Given the description of an element on the screen output the (x, y) to click on. 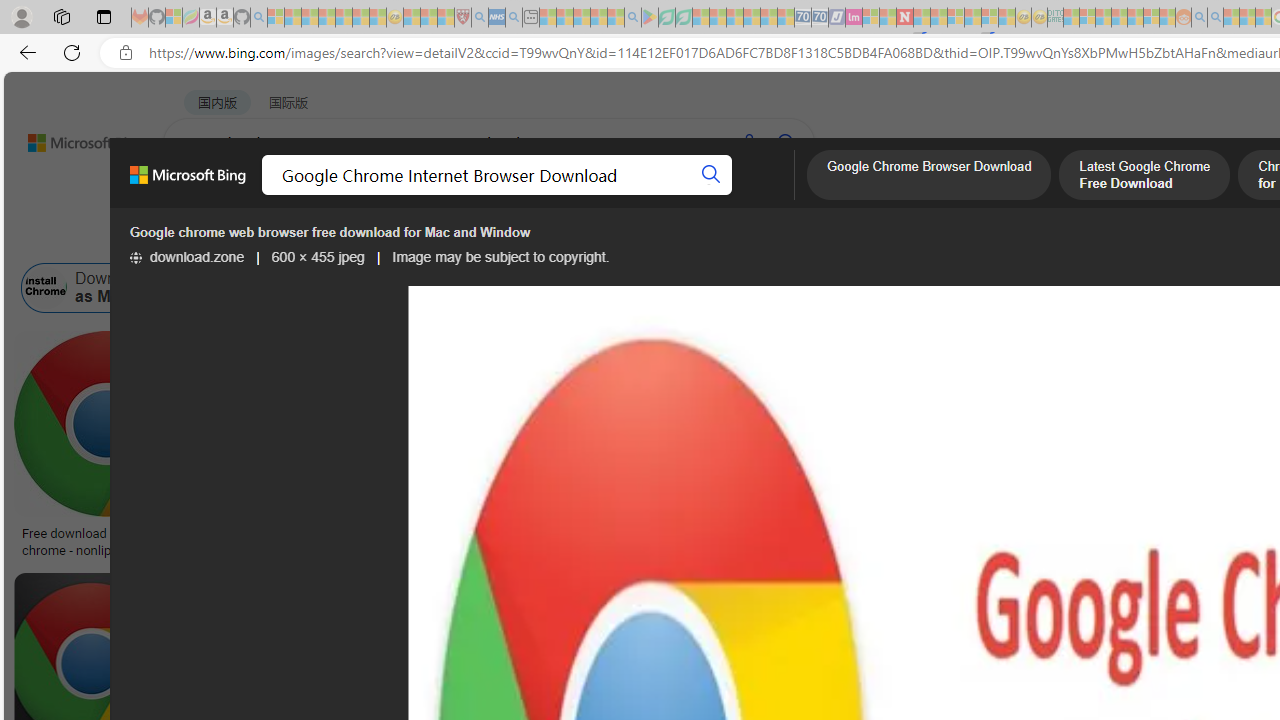
Class: b_pri_nav_svg (423, 196)
Latest Google Chrome Free Download (1144, 177)
MORE (793, 195)
Google Chrome Website Download (401, 287)
